Given the description of an element on the screen output the (x, y) to click on. 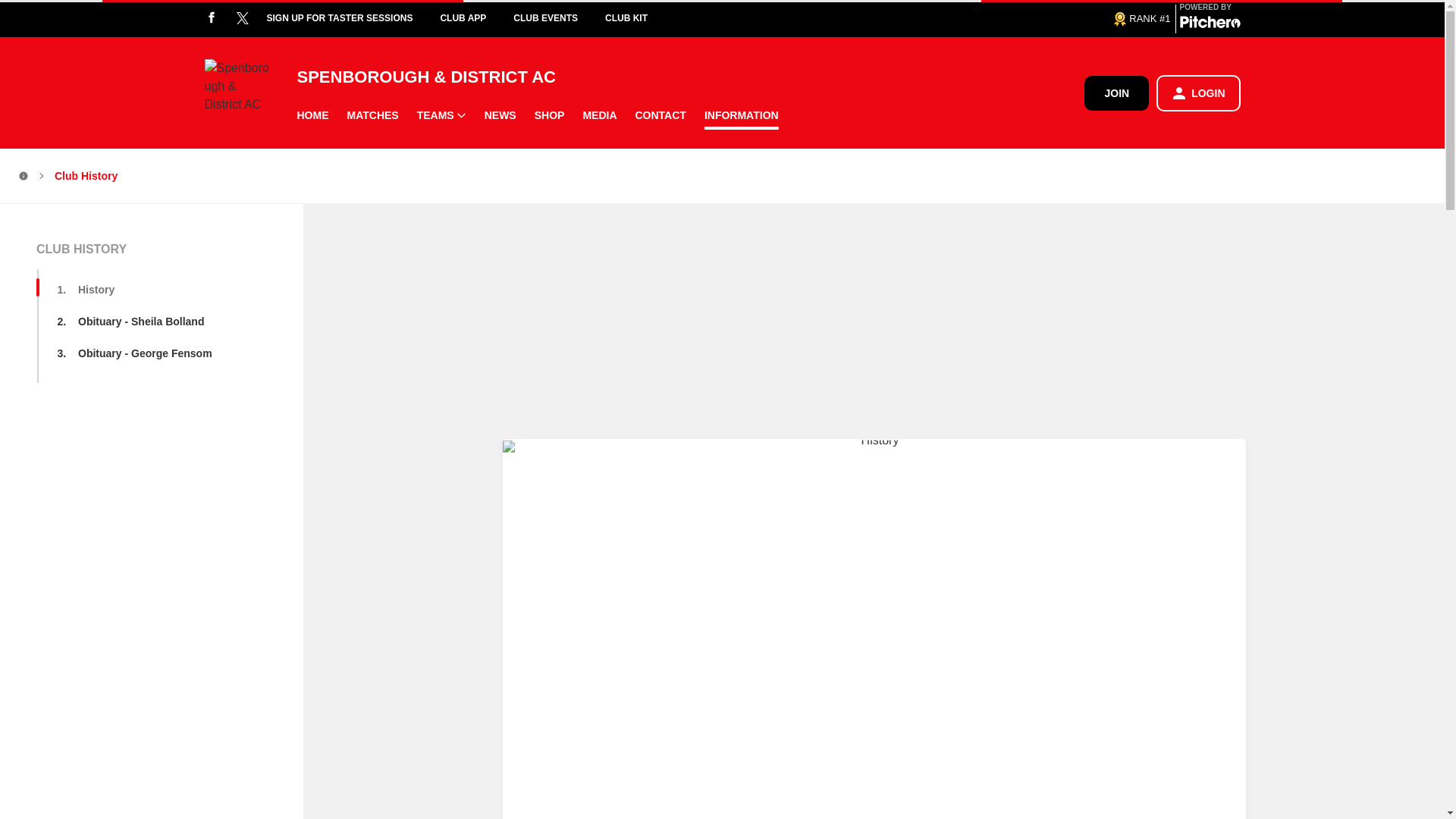
CONTACT (660, 115)
SIGN UP FOR TASTER SESSIONS (353, 18)
CLUB EVENTS (559, 18)
HOME (312, 115)
MEDIA (599, 115)
INFORMATION (741, 115)
Pitchero Rankings (1140, 18)
NEWS (500, 115)
LOGIN (1198, 93)
MATCHES (372, 115)
